Given the description of an element on the screen output the (x, y) to click on. 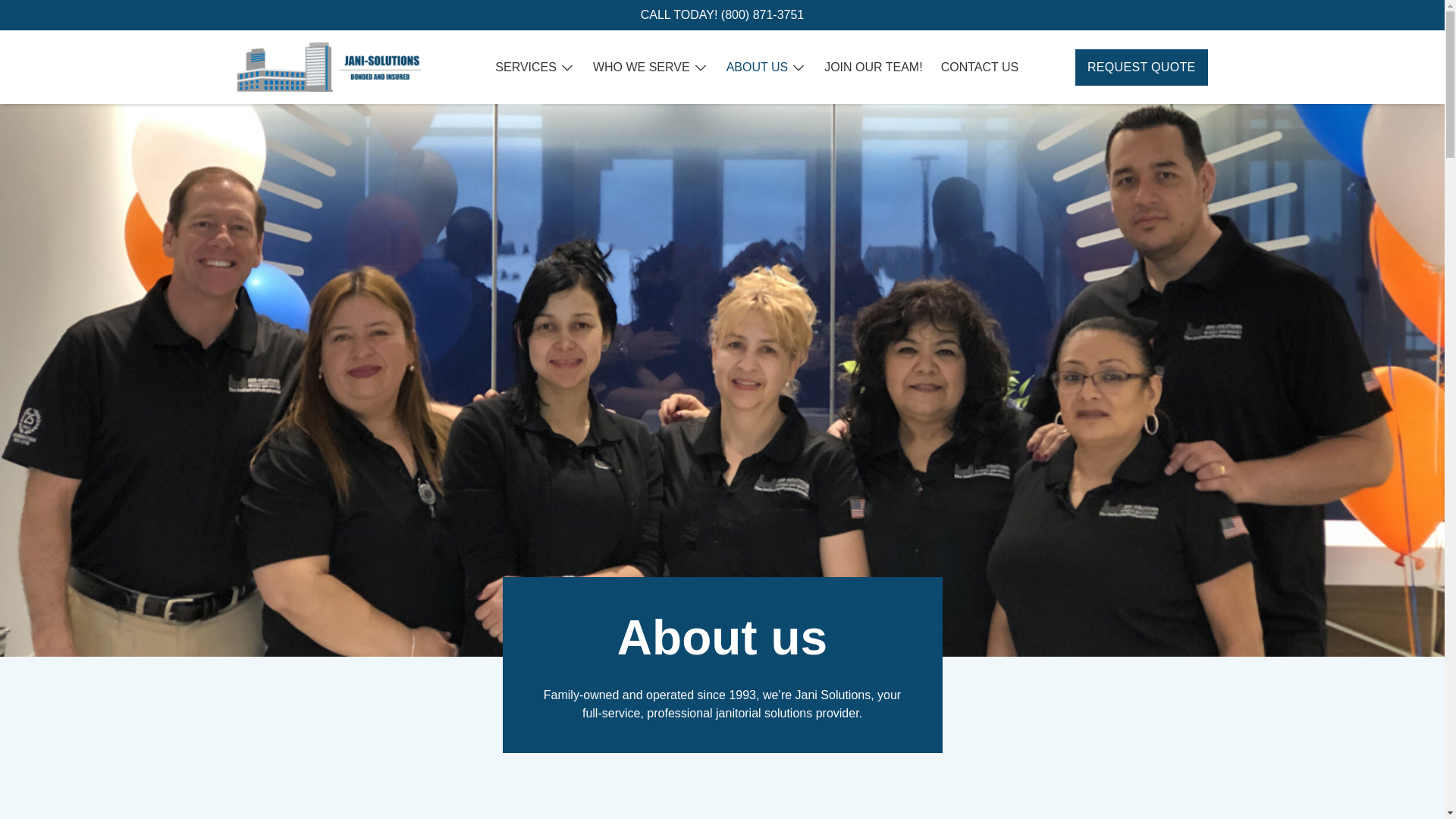
ABOUT US (757, 67)
CONTACT US (979, 67)
REQUEST QUOTE (1141, 67)
JOIN OUR TEAM! (873, 67)
WHO WE SERVE (641, 67)
SERVICES (525, 67)
